Given the description of an element on the screen output the (x, y) to click on. 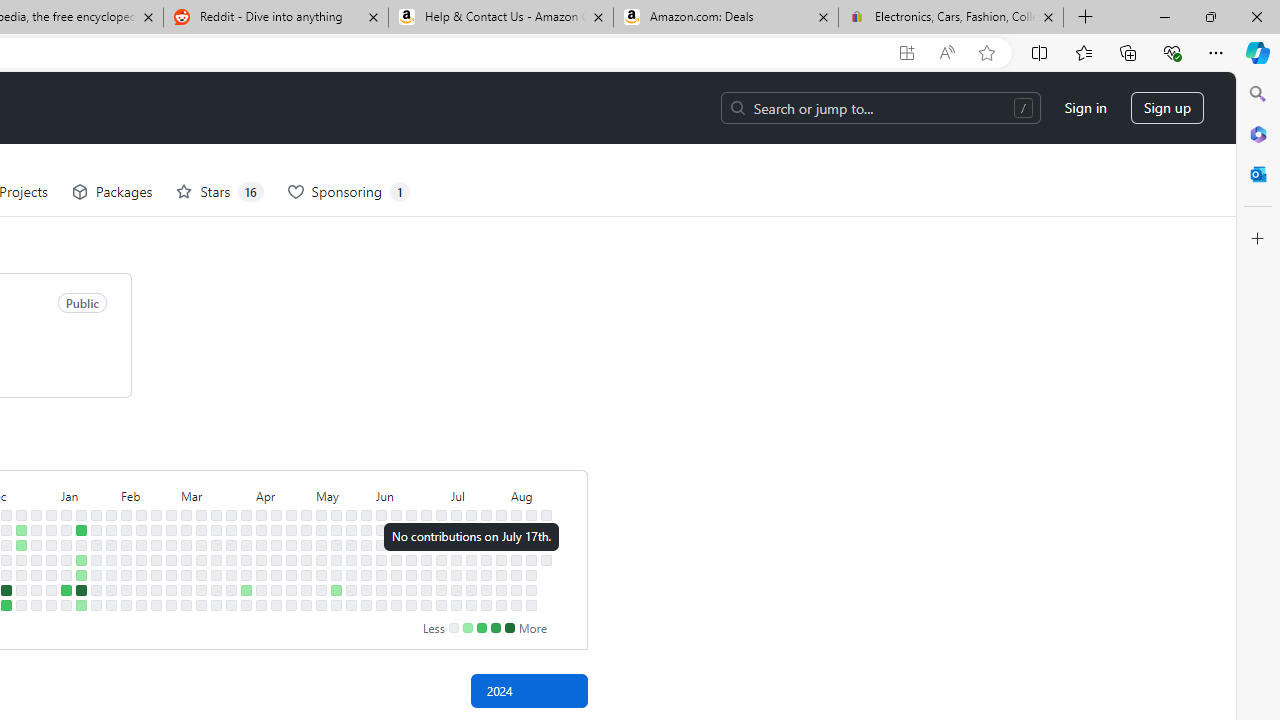
No contributions on March 14th. (201, 574)
App available. Install GitHub (906, 53)
No contributions on February 24th. (156, 605)
No contributions on April 4th. (246, 574)
No contributions on June 8th. (381, 605)
No contributions on May 11th. (321, 605)
Help & Contact Us - Amazon Customer Service (501, 17)
No contributions on April 14th. (276, 515)
No contributions on April 25th. (290, 574)
No contributions on May 15th. (336, 559)
No contributions on June 20th. (411, 574)
No contributions on August 13th. (531, 544)
No contributions on April 10th. (261, 559)
No contributions on February 26th. (171, 529)
